Given the description of an element on the screen output the (x, y) to click on. 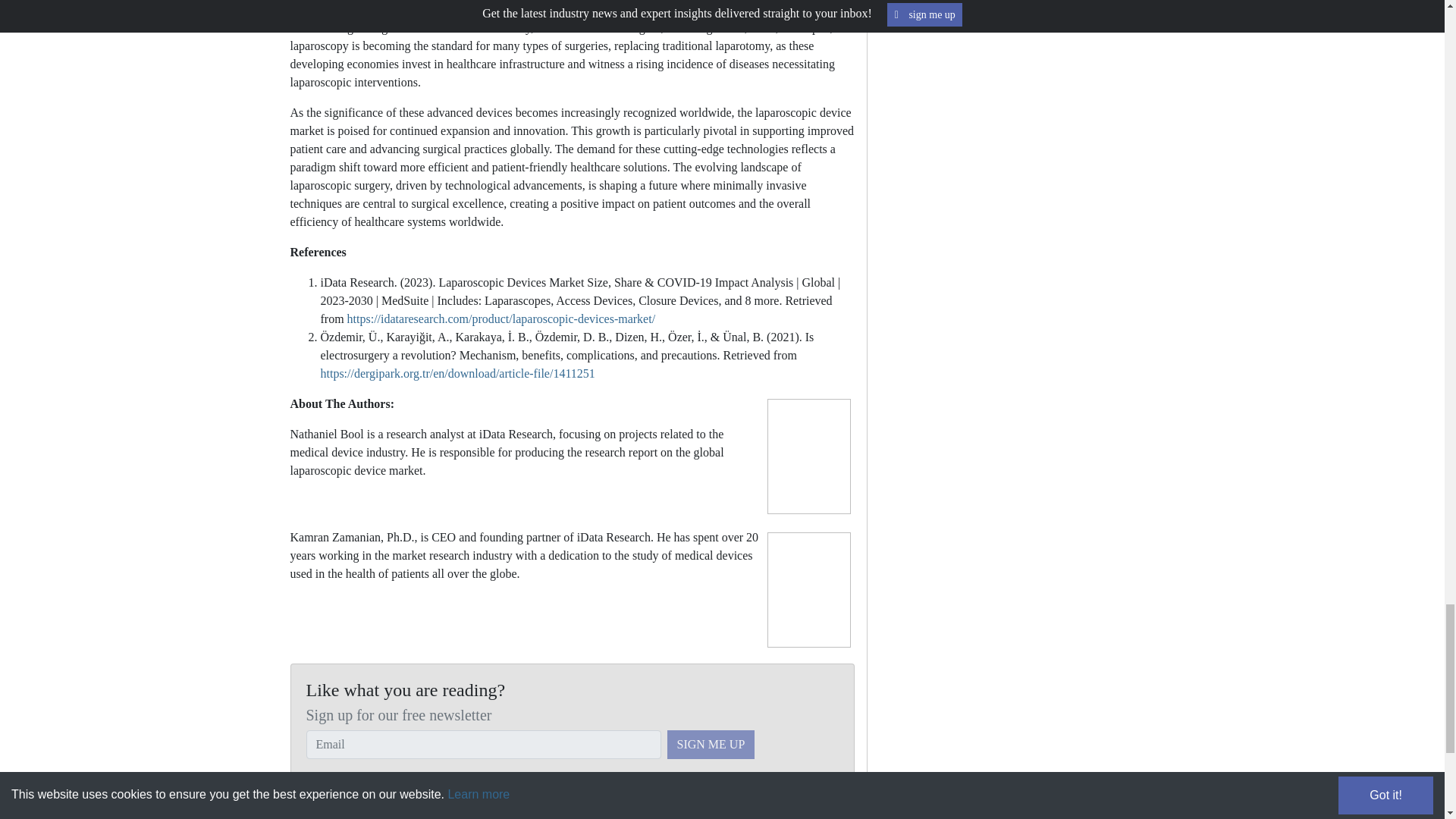
SIGN ME UP (710, 744)
